Given the description of an element on the screen output the (x, y) to click on. 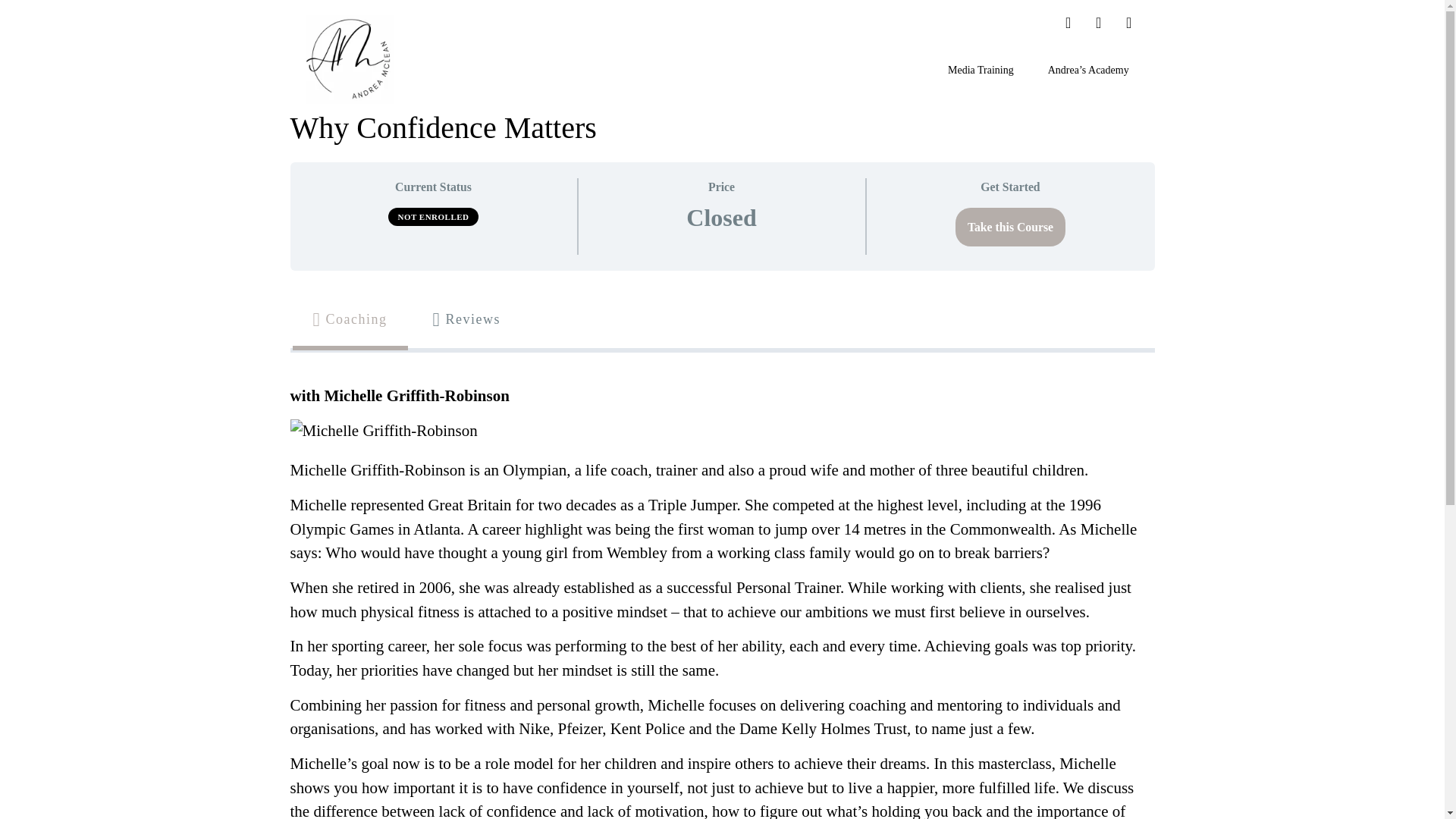
Reviews (465, 319)
Media Training (981, 70)
Take this Course (1010, 227)
Coaching (349, 319)
